Given the description of an element on the screen output the (x, y) to click on. 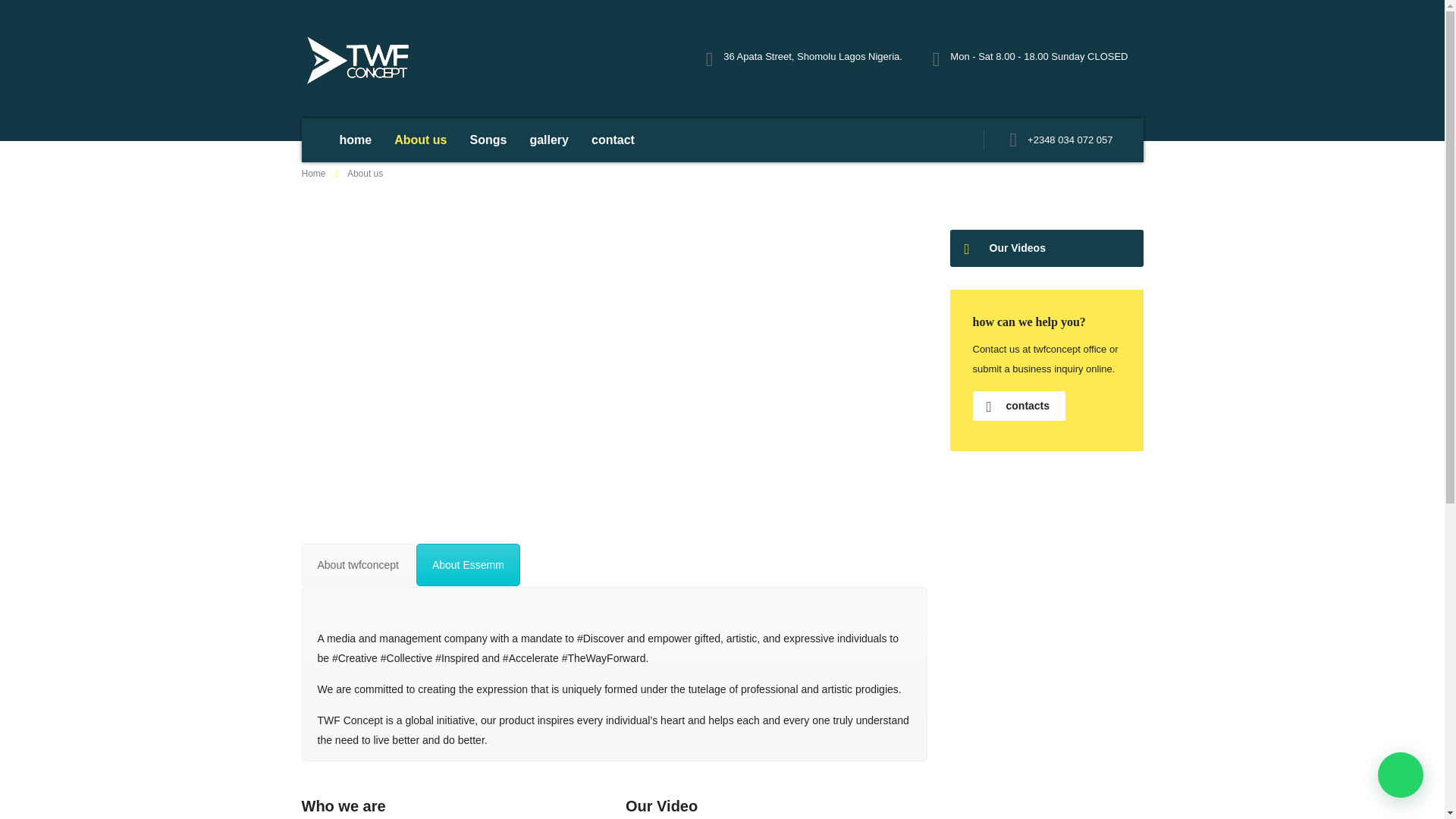
Songs (488, 139)
contacts (1018, 405)
home (354, 139)
gallery (548, 139)
About Essemm (467, 564)
contact (612, 139)
Go to www.twfconcept.com. (313, 173)
Our Videos (1045, 248)
About twfconcept (357, 564)
About us (420, 139)
